Given the description of an element on the screen output the (x, y) to click on. 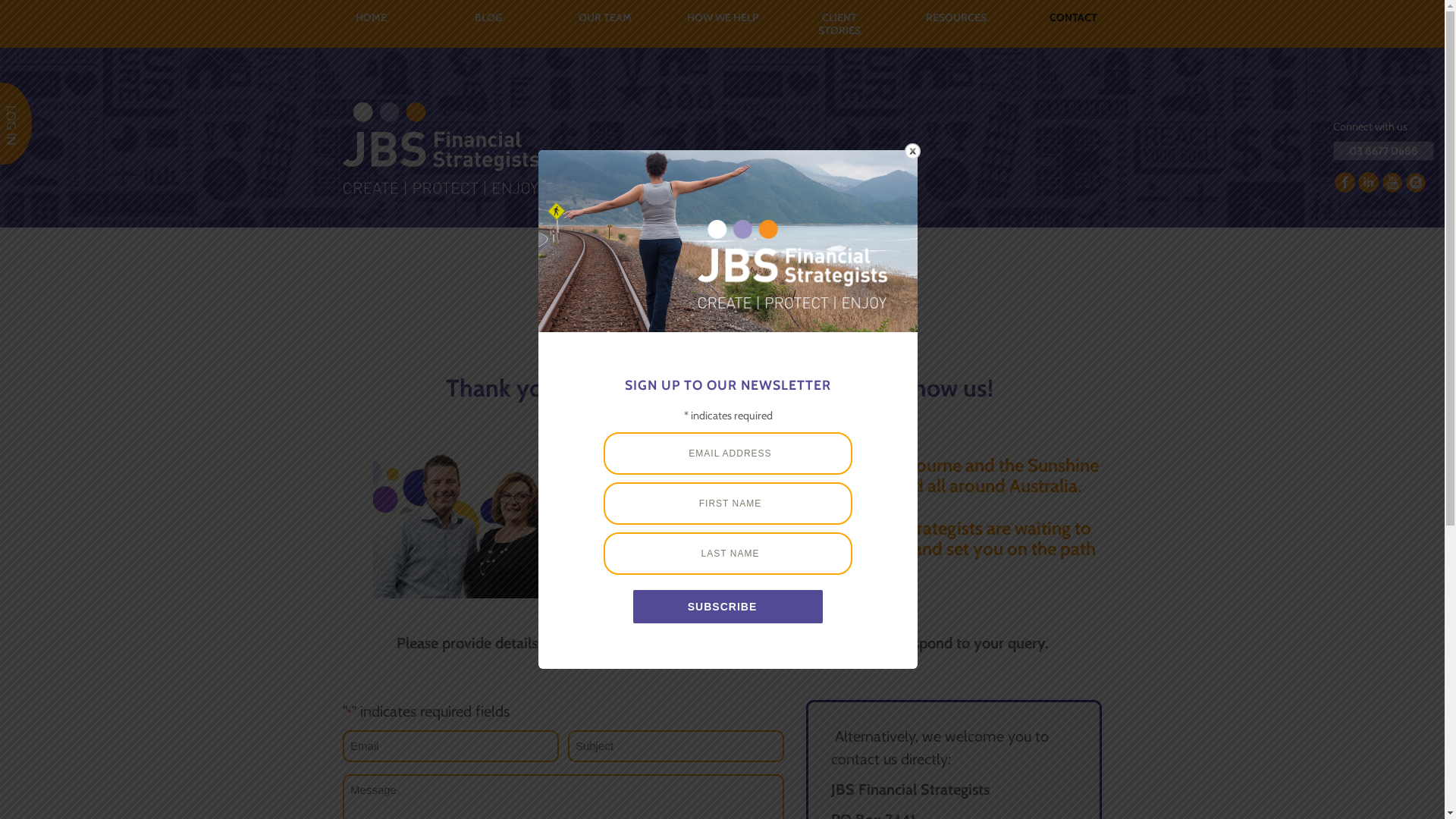
03 8677 0688 Element type: text (1383, 150)
CLIENT STORIES Element type: text (839, 23)
linkedin Element type: hover (1368, 182)
Subscribe Element type: text (727, 606)
Close Element type: hover (912, 151)
JBS Financial Strategists Element type: hover (440, 148)
facebook Element type: hover (1344, 182)
Youtube Element type: hover (1391, 182)
BLOG Element type: text (487, 17)
instagram Element type: hover (1415, 182)
CONTACT Element type: text (1072, 17)
Youtube Element type: hover (1391, 182)
facebook Element type: hover (1344, 182)
HOW WE HELP Element type: text (721, 17)
linkedin Element type: hover (1368, 182)
instagram Element type: hover (1415, 182)
HOME Element type: text (371, 17)
RESOURCES Element type: text (955, 17)
OUR TEAM Element type: text (604, 17)
